Given the description of an element on the screen output the (x, y) to click on. 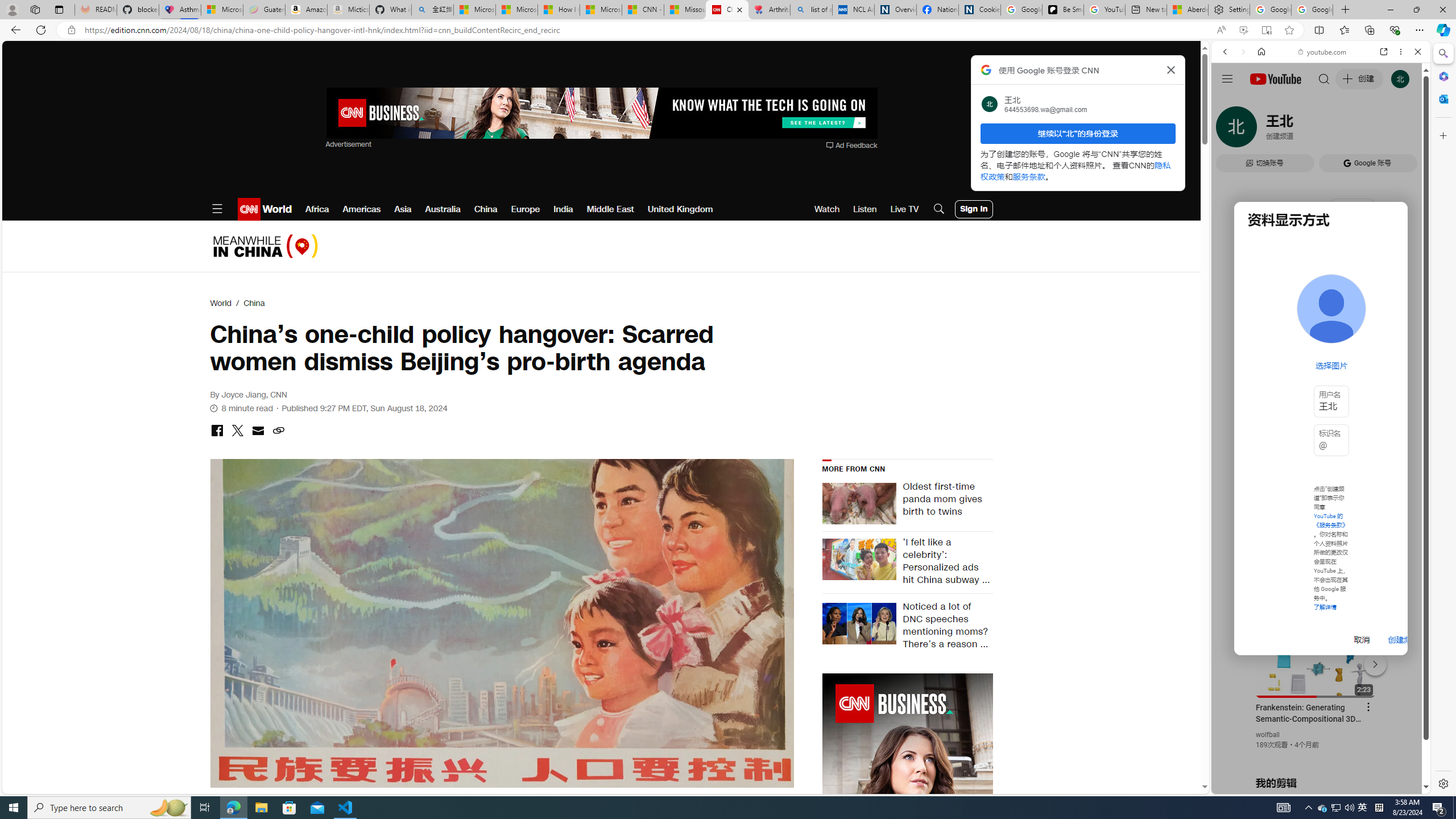
Enhance video (1243, 29)
you (1315, 755)
Live TV (903, 208)
United Kingdom (680, 209)
list of asthma inhalers uk - Search (810, 9)
